Given the description of an element on the screen output the (x, y) to click on. 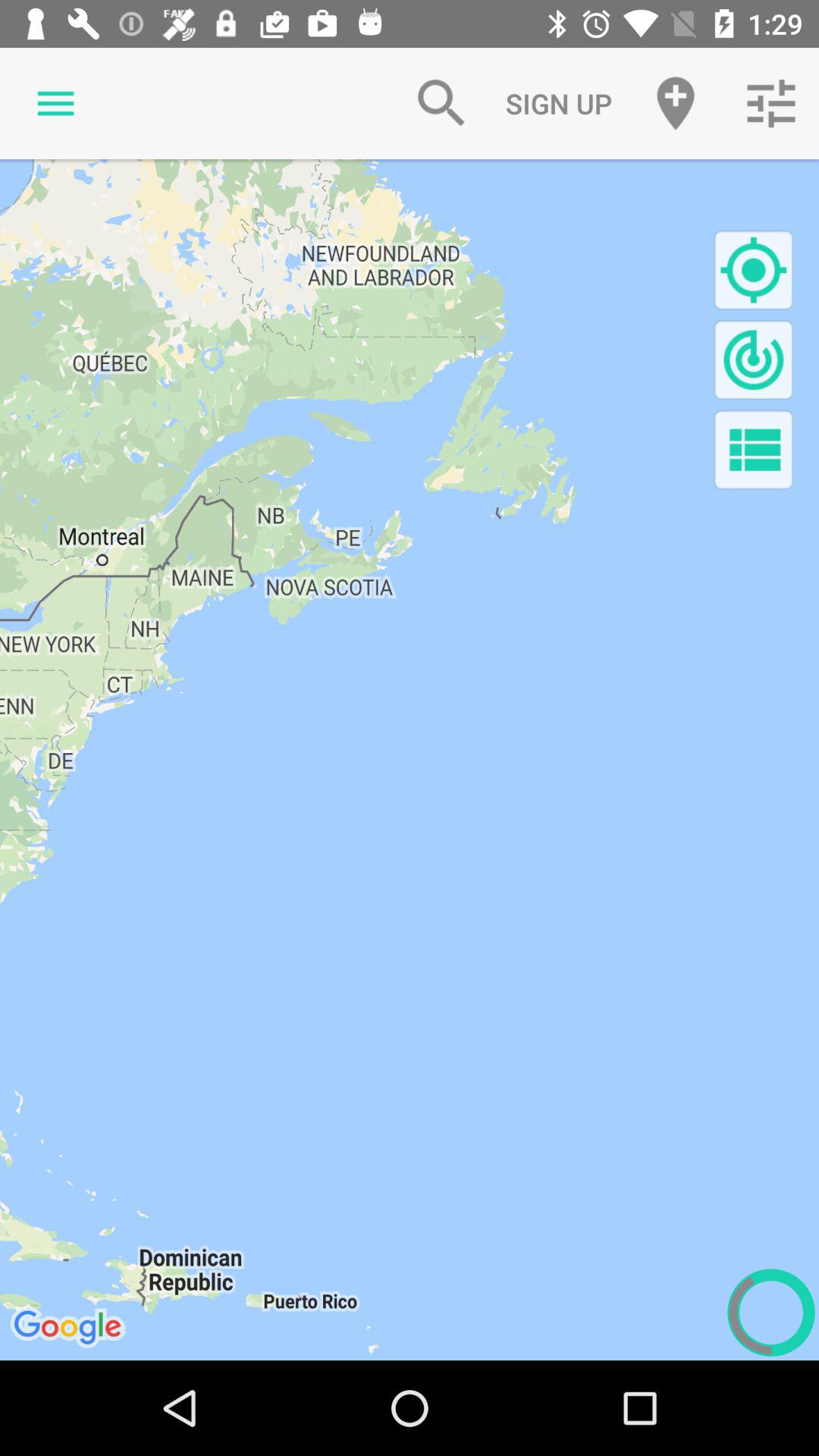
swipe to the sign up (558, 103)
